Given the description of an element on the screen output the (x, y) to click on. 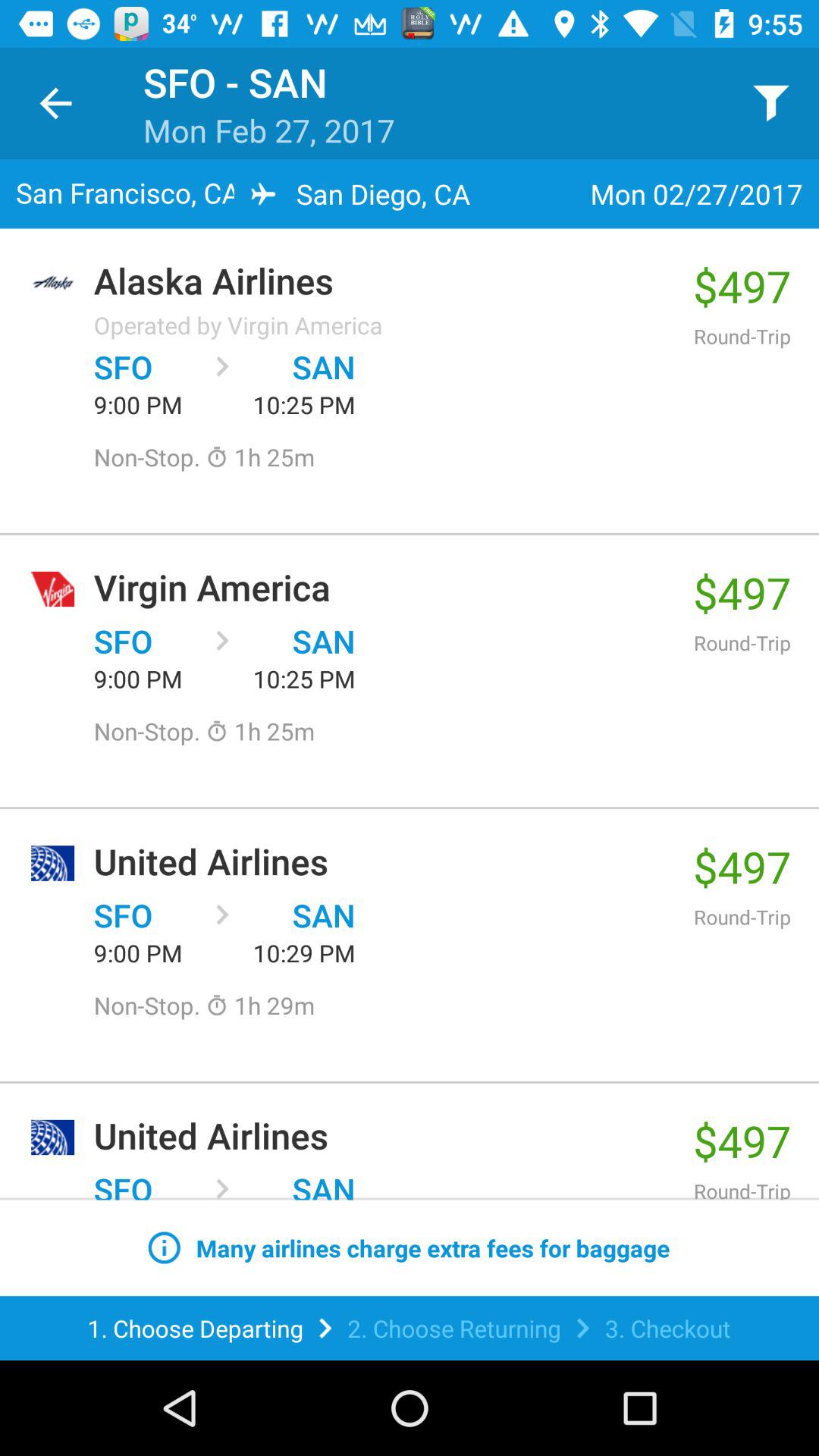
open operated by virgin item (237, 324)
